Given the description of an element on the screen output the (x, y) to click on. 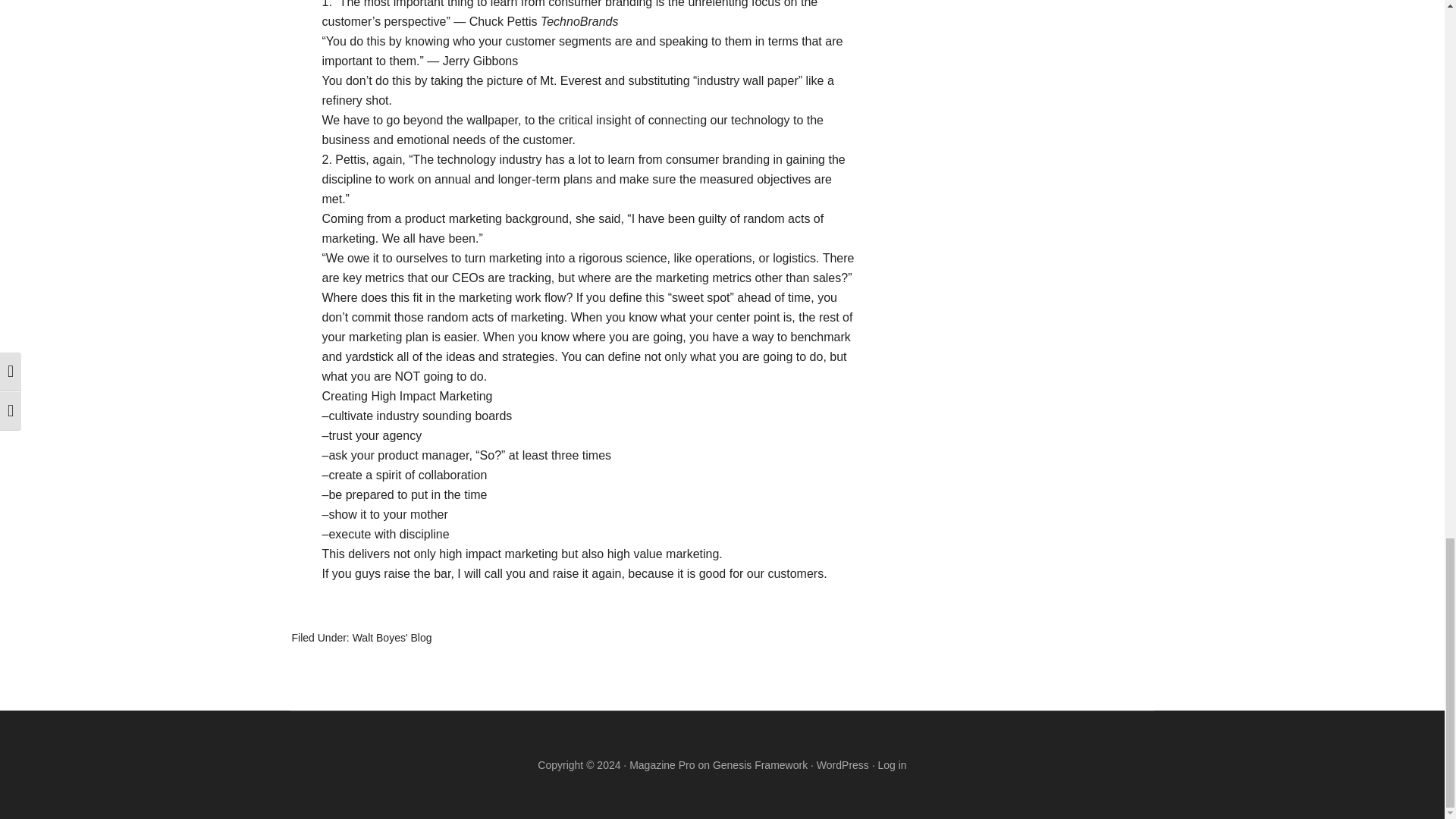
Walt Boyes' Blog (392, 637)
WordPress (842, 764)
Log in (892, 764)
Genesis Framework (760, 764)
Magazine Pro (661, 764)
